Given the description of an element on the screen output the (x, y) to click on. 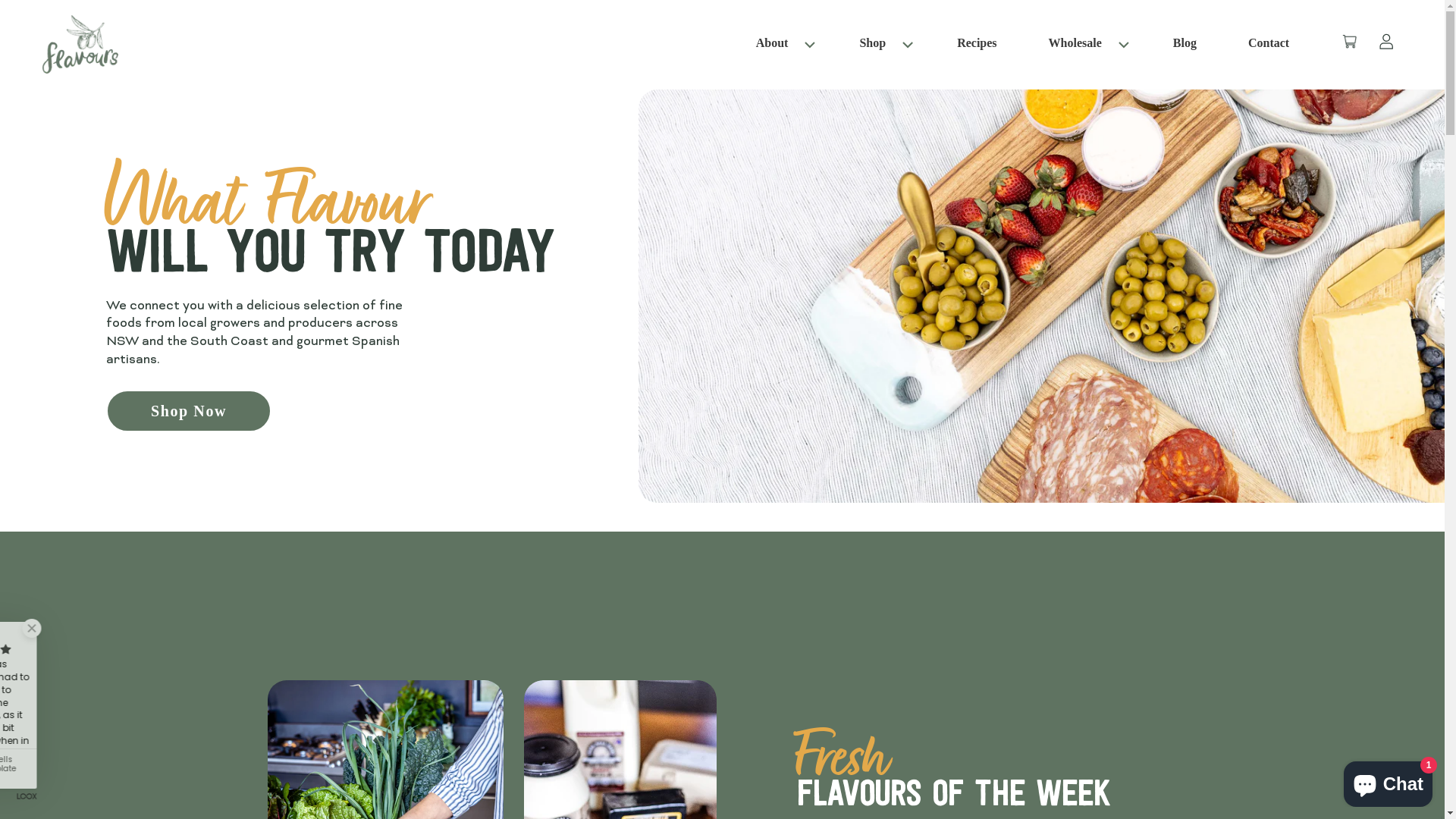
Wholesale Element type: text (1075, 42)
Shop Element type: text (882, 44)
Recipes Element type: text (976, 44)
Cart Element type: text (1337, 44)
Shop Now Element type: text (188, 410)
Contact Element type: text (1268, 44)
About Element type: text (781, 44)
Shop Element type: text (872, 42)
About Element type: text (772, 42)
Blog Element type: text (1184, 44)
Shopify online store chat Element type: hover (1388, 780)
Wholesale Element type: text (1085, 44)
